Given the description of an element on the screen output the (x, y) to click on. 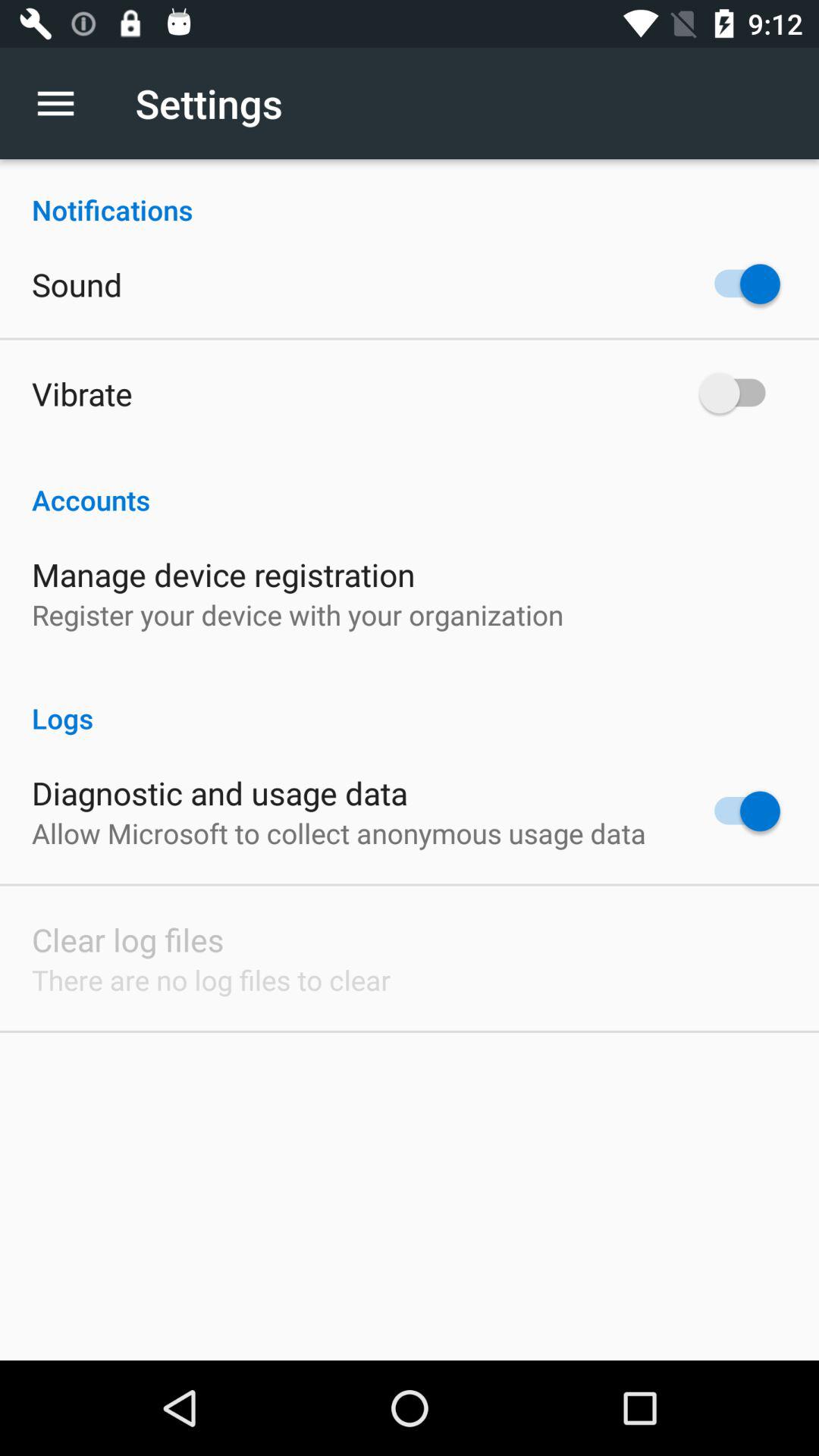
select the app above the clear log files (338, 832)
